Given the description of an element on the screen output the (x, y) to click on. 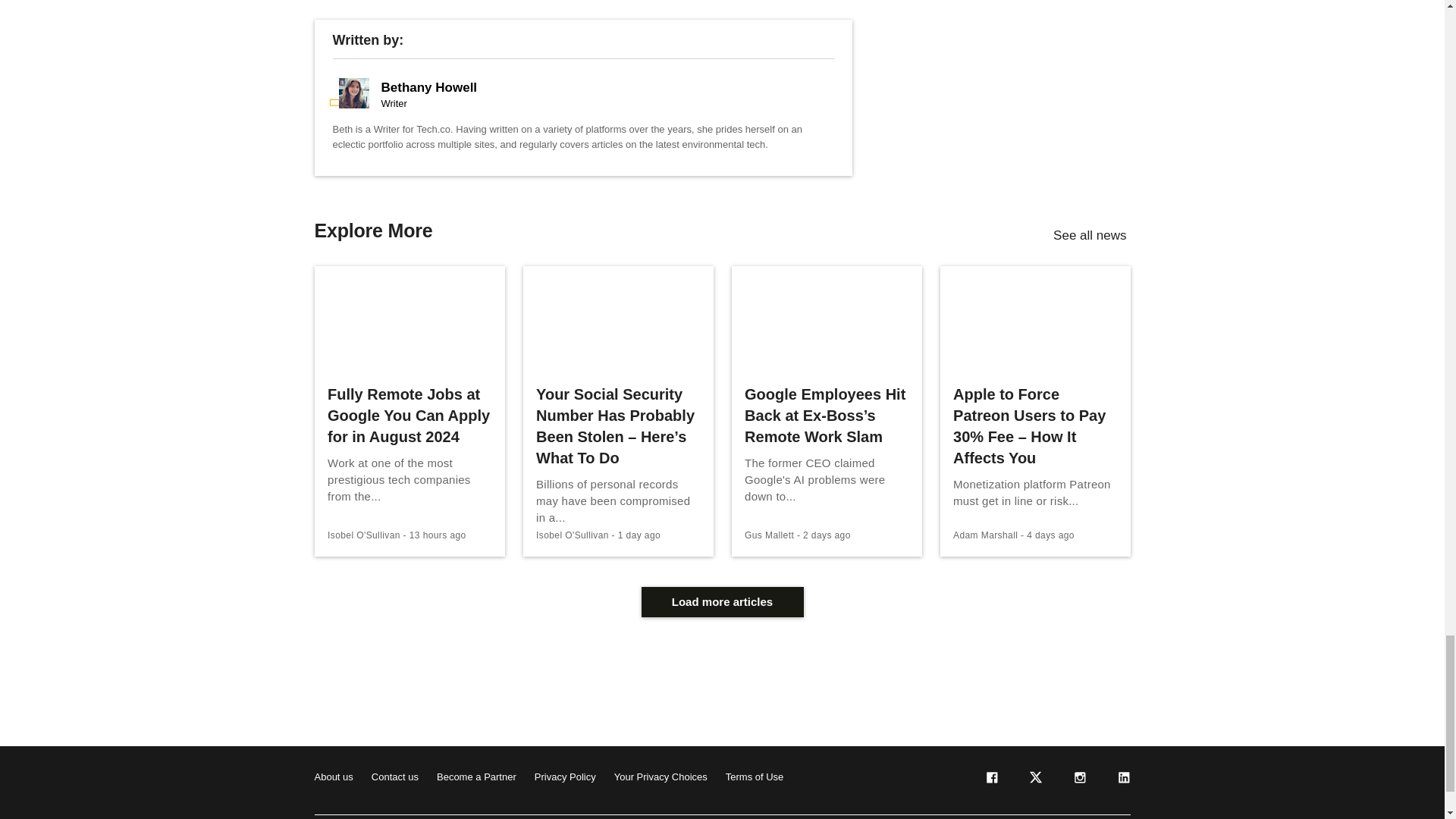
twitter-x (1034, 780)
facebook (990, 780)
linkedin (1122, 780)
instagram (1078, 780)
